Given the description of an element on the screen output the (x, y) to click on. 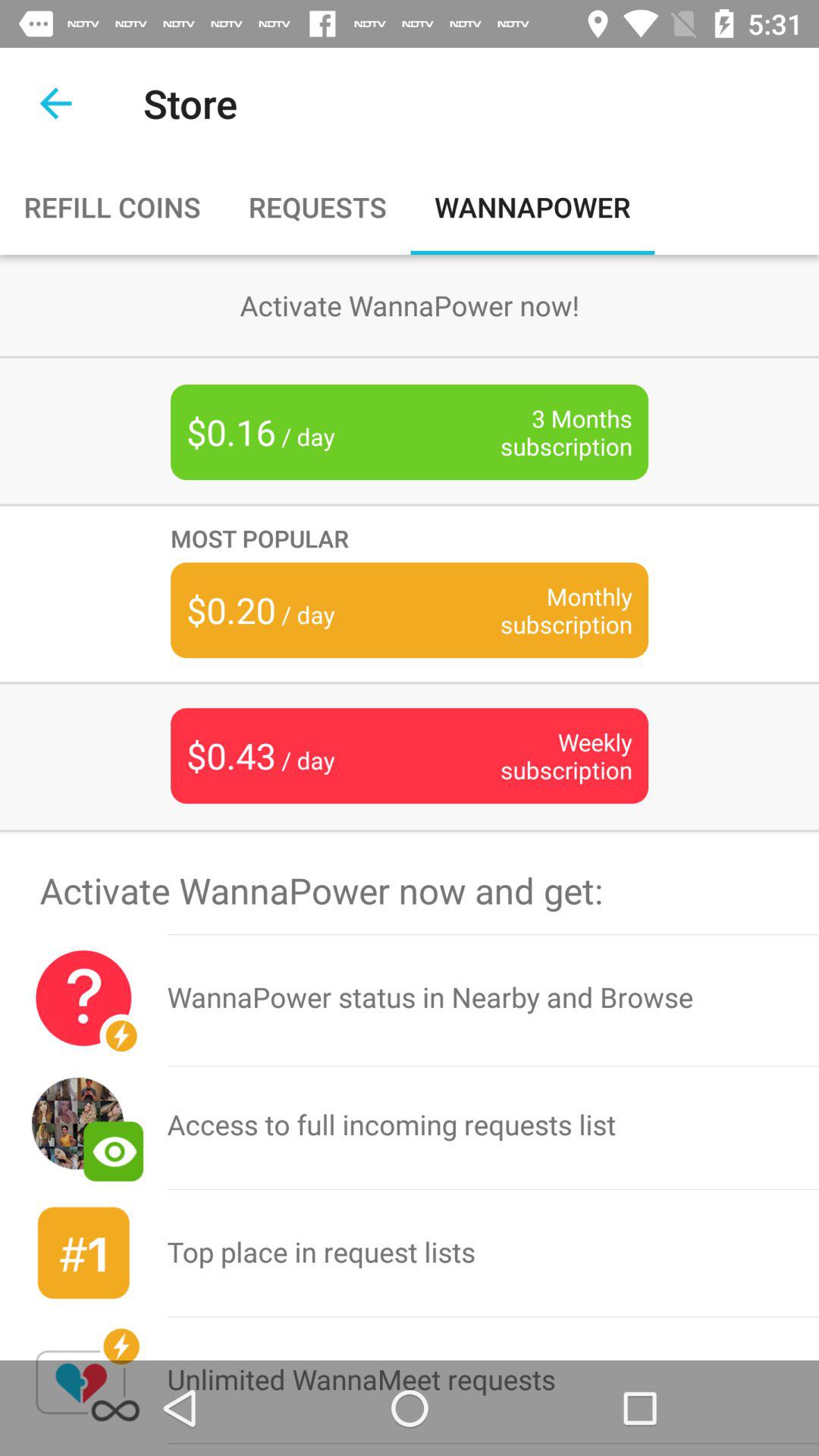
turn off icon above the unlimited wannameet requests (493, 1252)
